Given the description of an element on the screen output the (x, y) to click on. 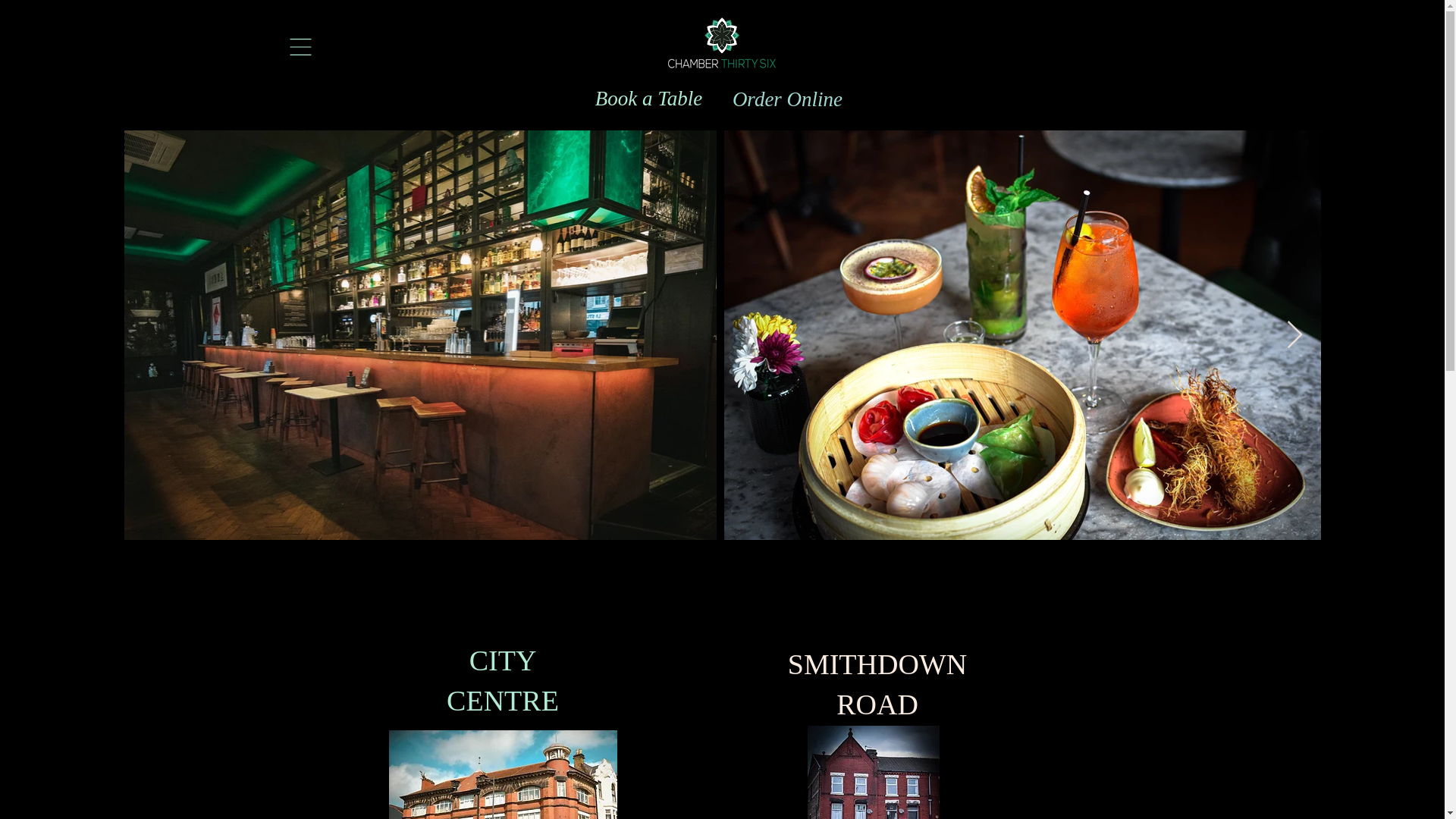
Order Online (787, 99)
CITY CENTRE (502, 680)
SMITHDOWN ROAD (876, 684)
Book a Table (647, 99)
